Given the description of an element on the screen output the (x, y) to click on. 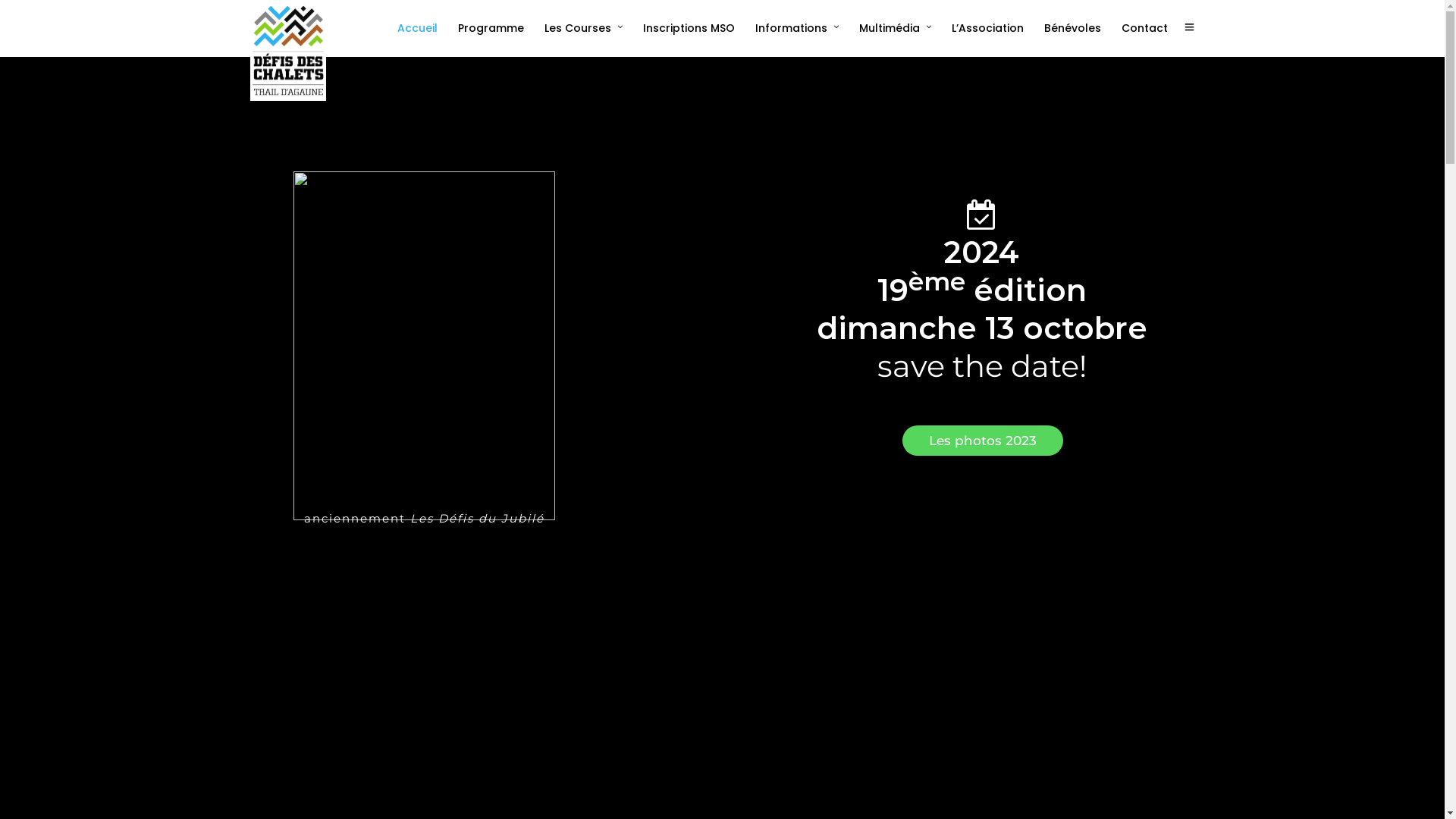
Informations Element type: text (803, 28)
Programme Element type: text (497, 28)
Contact Element type: text (1150, 28)
Les photos 2023 Element type: text (982, 440)
Inscriptions MSO Element type: text (695, 28)
Accueil Element type: text (423, 28)
Les Courses Element type: text (589, 28)
